Given the description of an element on the screen output the (x, y) to click on. 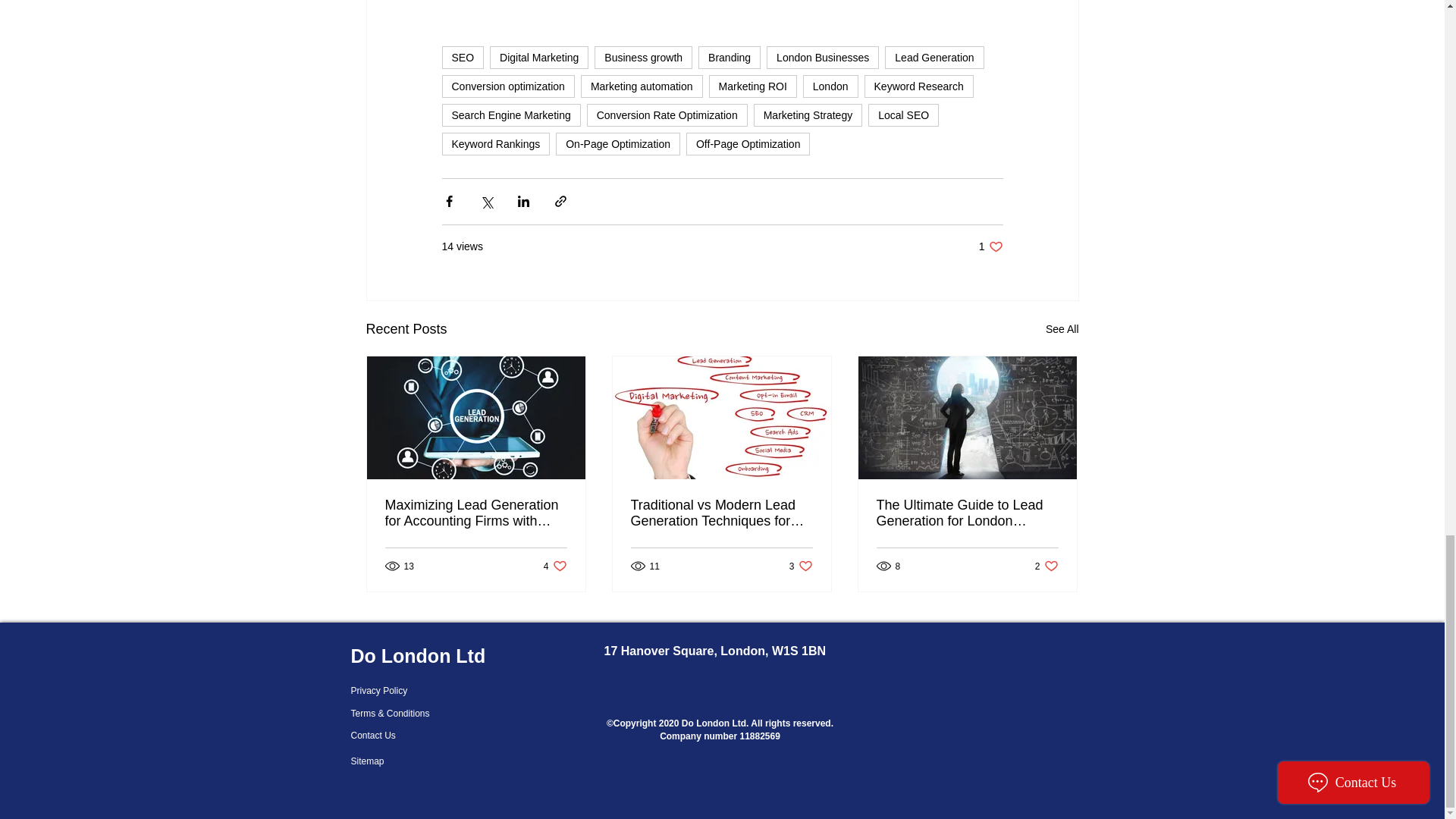
On-Page Optimization (617, 143)
Off-Page Optimization (747, 143)
Local SEO (903, 115)
Marketing automation (641, 86)
Business growth (643, 56)
Digital Marketing (538, 56)
London Businesses (823, 56)
Keyword Rankings (495, 143)
Conversion optimization (507, 86)
Lead Generation (934, 56)
